Given the description of an element on the screen output the (x, y) to click on. 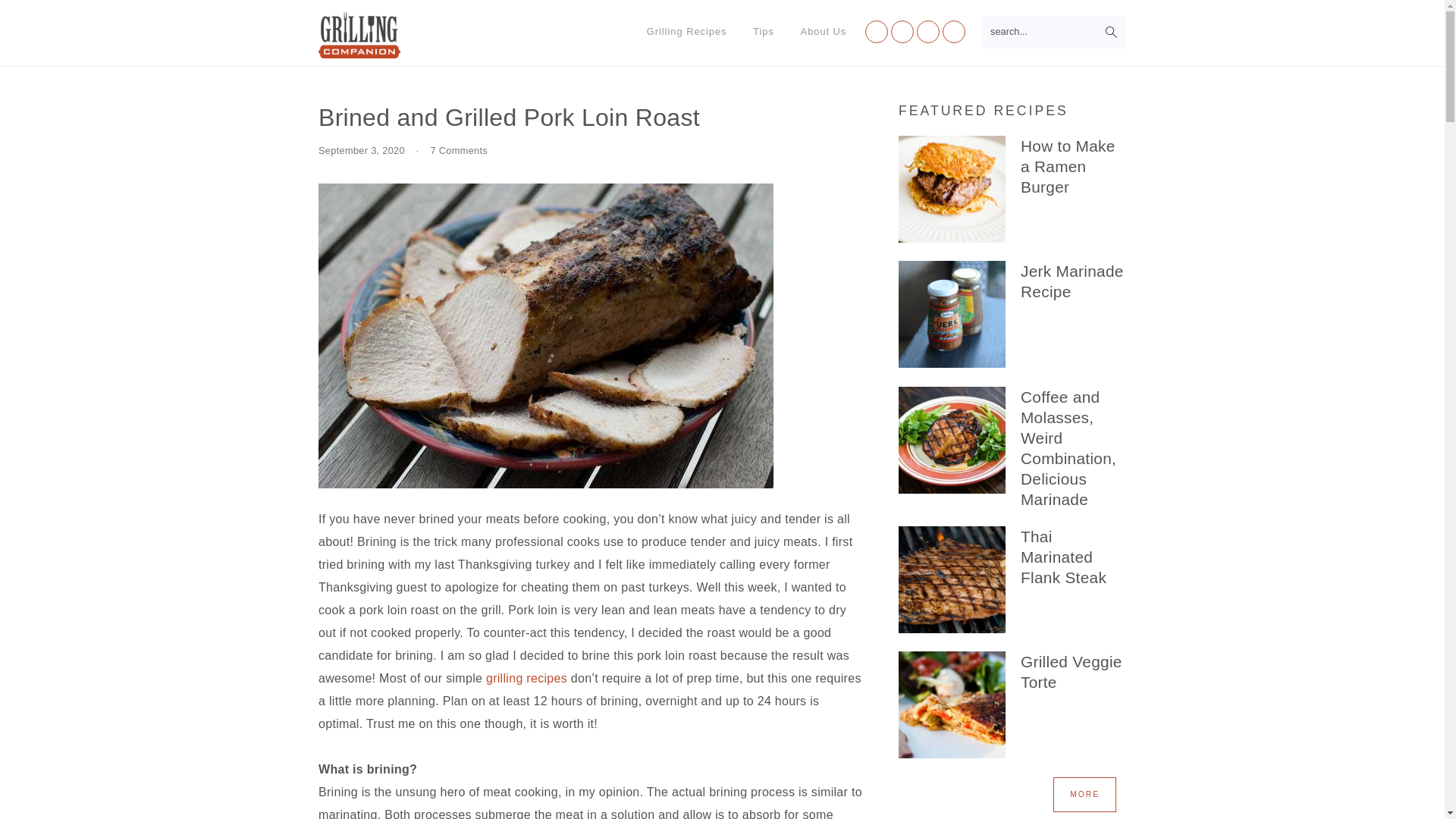
Grilling Recipes (686, 32)
About Us (824, 32)
Grilling Companion (359, 49)
Recipe (1084, 794)
Tips (763, 32)
How to Make a Ramen Burger (952, 191)
Thai Marinated Flank Steak (952, 582)
7 Comments (458, 150)
grilling recipes (526, 677)
Jerk Marinade Recipe (952, 317)
Grilling Companion (359, 35)
